Given the description of an element on the screen output the (x, y) to click on. 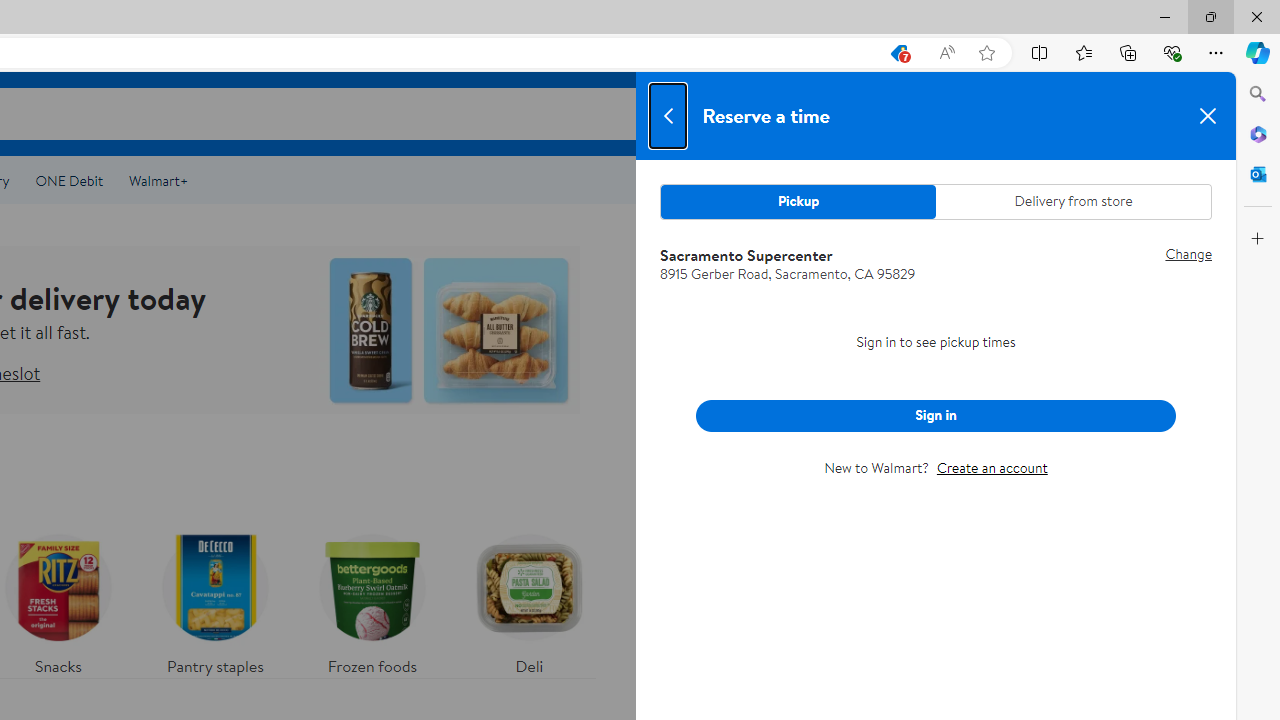
This site has coupons! Shopping in Microsoft Edge, 7 (898, 53)
Delivery from store (1072, 201)
Deli (529, 599)
ONE Debit (68, 180)
back (668, 116)
Reorder My Items (967, 113)
Search icon (867, 113)
